Given the description of an element on the screen output the (x, y) to click on. 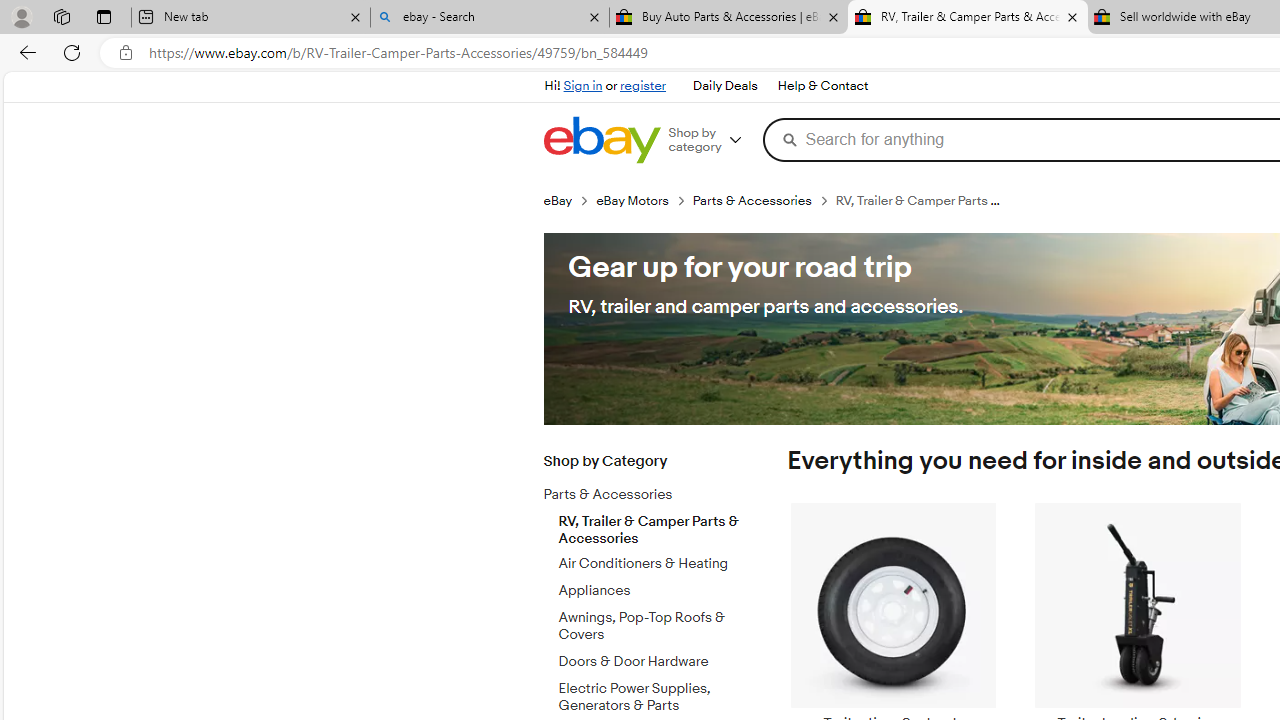
RV, Trailer & Camper Parts & Accessories (653, 525)
Appliances (653, 591)
ebay - Search (490, 17)
eBay Home (601, 139)
Awnings, Pop-Top Roofs & Covers (653, 627)
eBay Home (601, 139)
Electric Power Supplies, Generators & Parts (653, 697)
Sign in (582, 85)
Doors & Door Hardware (653, 662)
Shop by category (711, 140)
Personal Profile (21, 16)
Refresh (72, 52)
View site information (125, 53)
Daily Deals (724, 85)
Parts & Accessories (653, 491)
